Given the description of an element on the screen output the (x, y) to click on. 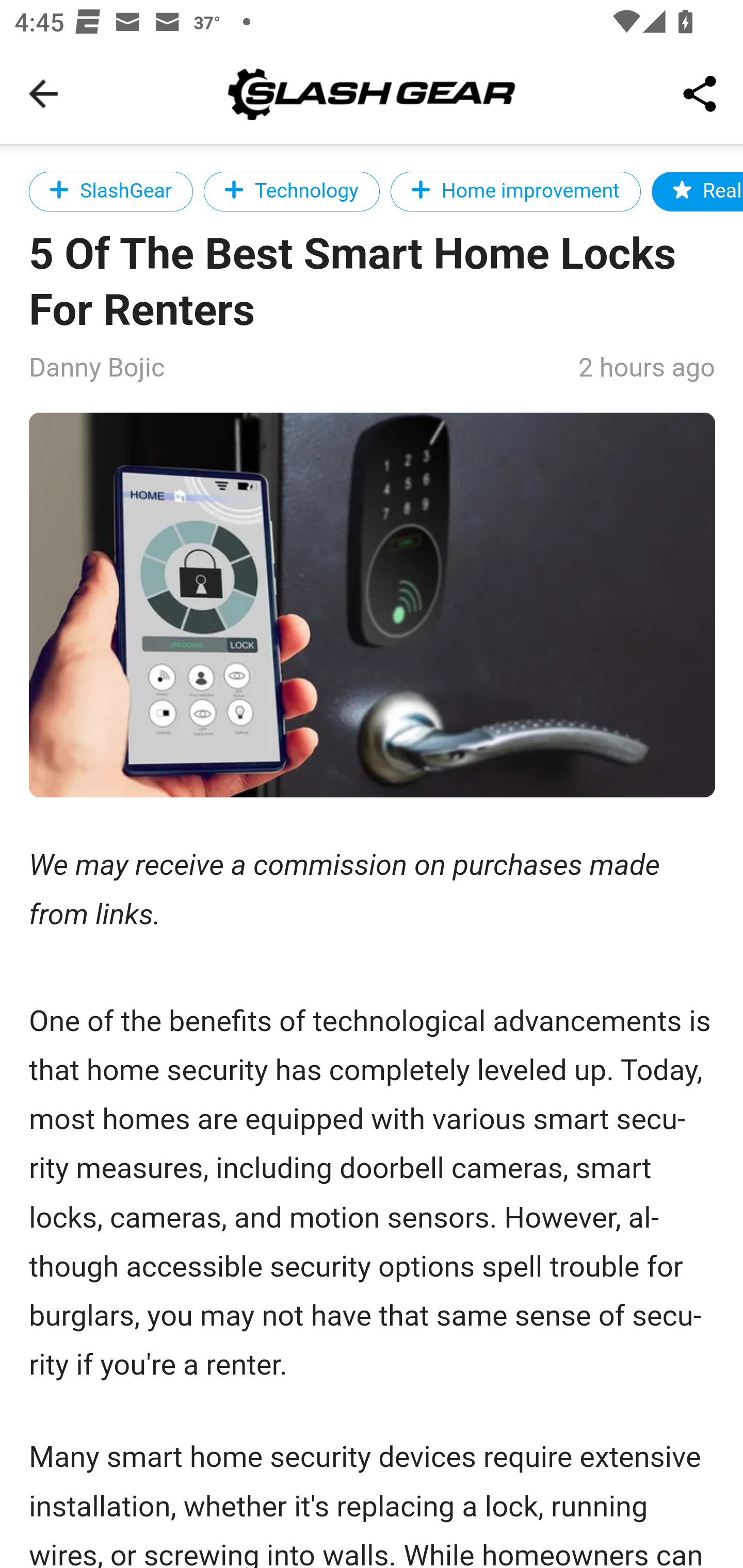
SlashGear (110, 191)
Technology (291, 191)
Home improvement (515, 191)
Real estate (696, 191)
